Given the description of an element on the screen output the (x, y) to click on. 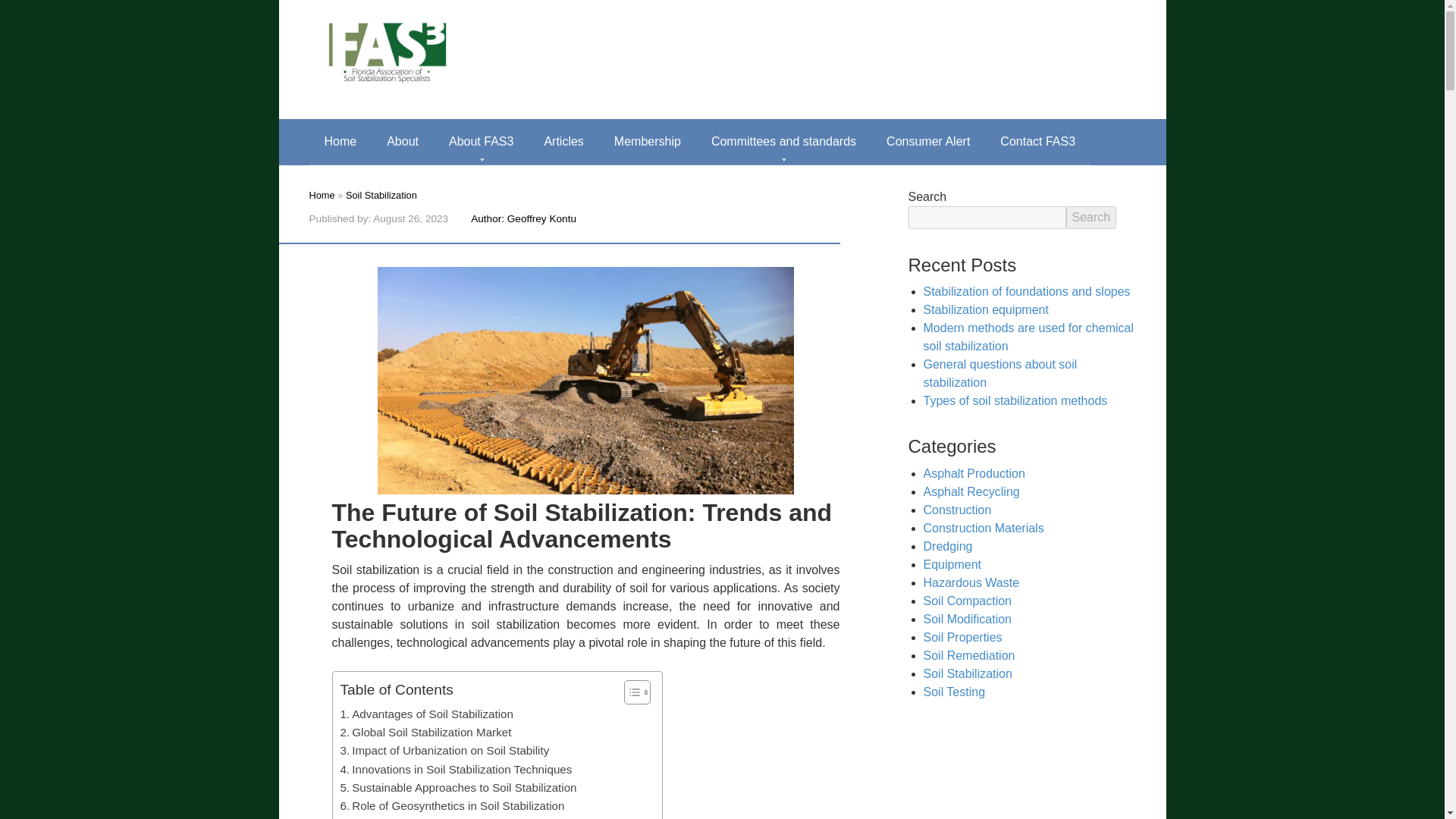
Articles (563, 141)
Consumer Alert (927, 141)
About (402, 141)
Impact of Urbanization on Soil Stability (443, 751)
Home (321, 194)
Advantages of Soil Stabilization (425, 714)
Sustainable Approaches to Soil Stabilization (457, 787)
Contact FAS3 (1037, 141)
Sustainable Approaches to Soil Stabilization (457, 787)
Home (340, 141)
Impact of Urbanization on Soil Stability (443, 751)
Membership (646, 141)
Global Soil Stabilization Market (425, 732)
About FAS3 (480, 141)
